Given the description of an element on the screen output the (x, y) to click on. 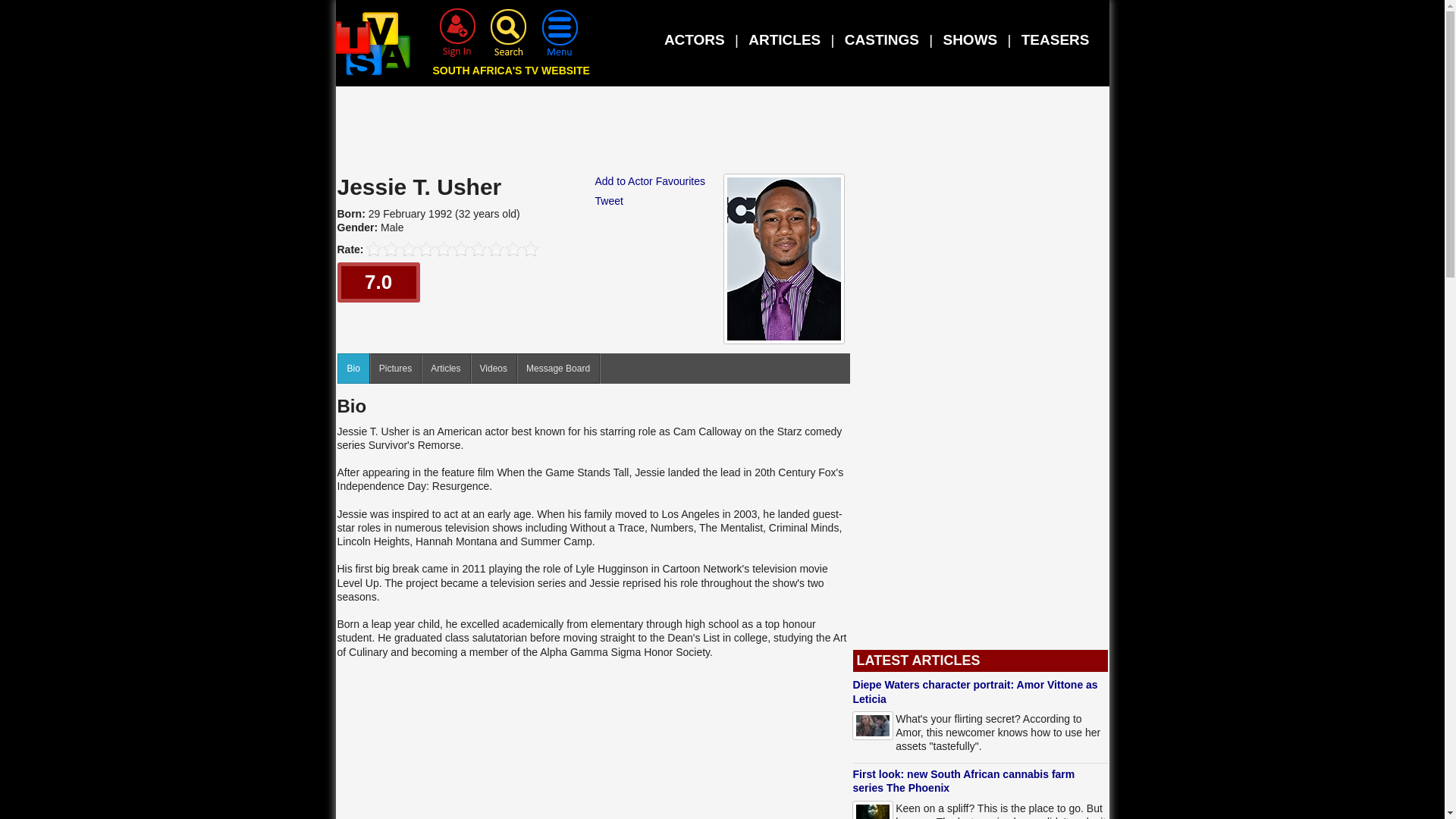
ARTICLES (784, 39)
Advertisement (722, 133)
SHOWS (969, 39)
Advertisement (592, 742)
ACTORS (694, 39)
CASTINGS (881, 39)
TEASERS (1055, 39)
